Given the description of an element on the screen output the (x, y) to click on. 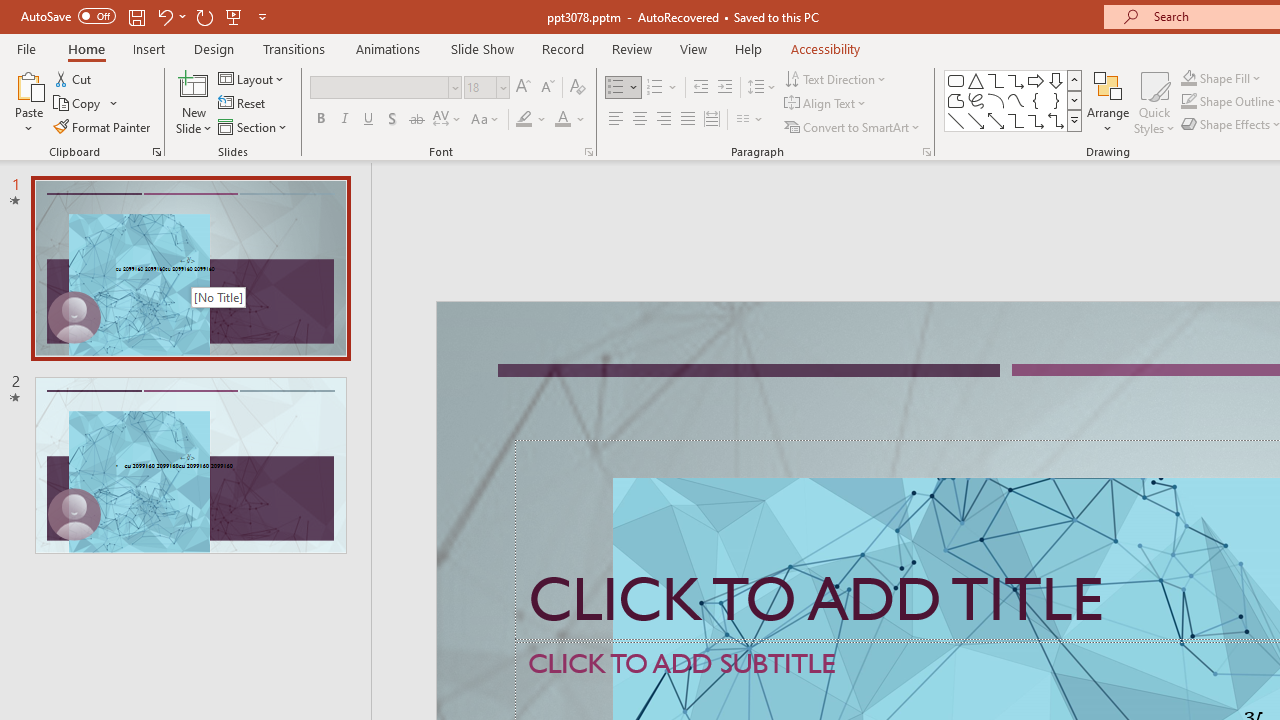
Connector: Elbow Double-Arrow (1055, 120)
